Given the description of an element on the screen output the (x, y) to click on. 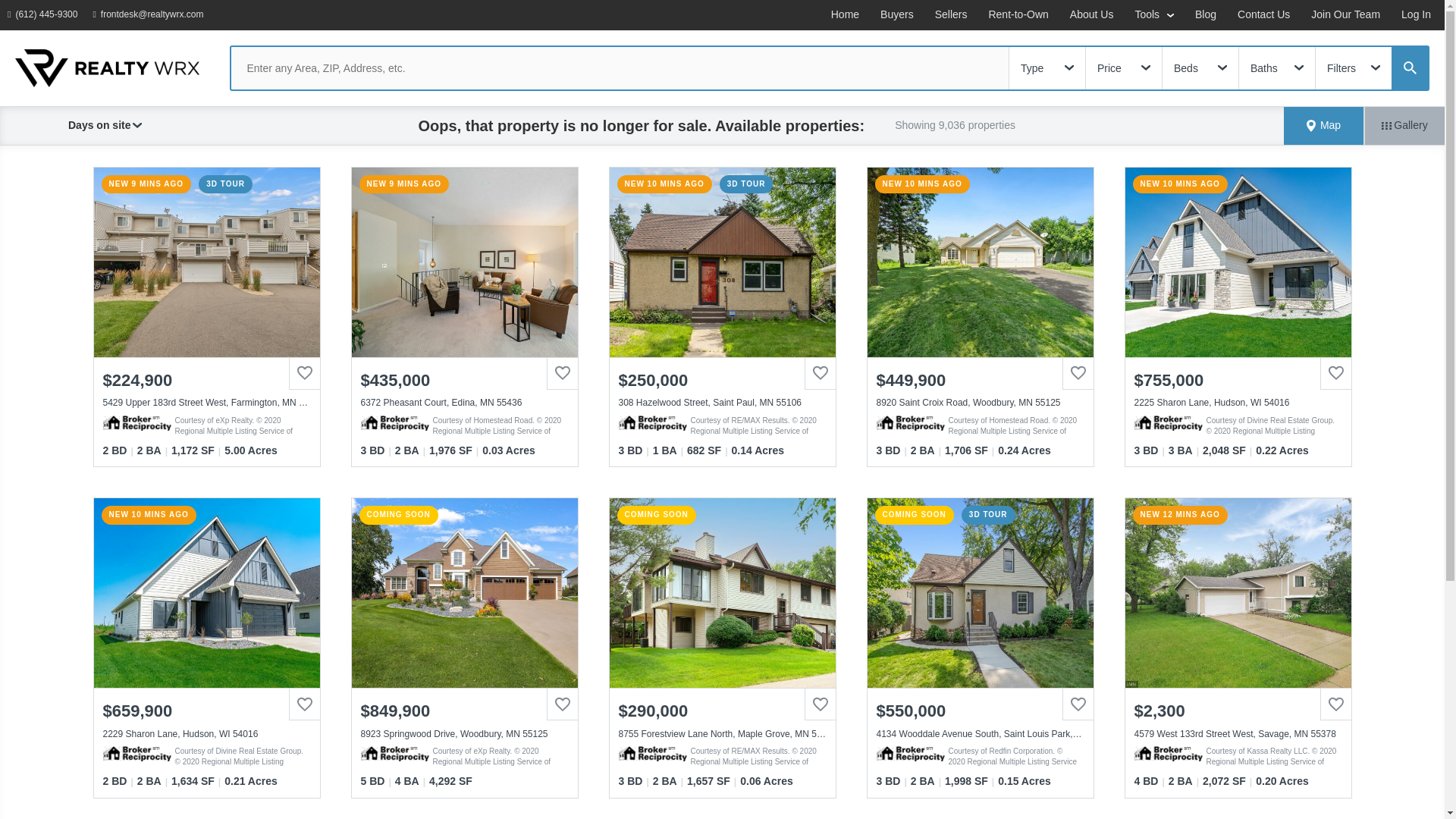
6372 Pheasant Court, Edina, MN 55436 (465, 402)
4134 Wooddale Avenue South, Saint Louis Park, MN 55416 (980, 734)
Join Our Team (1345, 15)
8920 Saint Croix Road, Woodbury, MN 55125 (980, 402)
Contact Us (1263, 15)
Rent-to-Own (1017, 15)
2225 Sharon Lane, Hudson, WI 54016 (1238, 402)
5429 Upper 183rd Street West, Farmington, MN 55024 (207, 402)
5429 Upper 183rd Street West, Farmington, MN 55024 (207, 262)
2229 Sharon Lane, Hudson, WI 54016 (207, 734)
2225 Sharon Lane, Hudson, WI 54016 (1238, 262)
308 Hazelwood Street, Saint Paul, MN 55106 (722, 402)
6372 Pheasant Court, Edina, MN 55436 (465, 262)
Home (845, 15)
8755 Forestview Lane North, Maple Grove, MN 55369 (722, 734)
